Given the description of an element on the screen output the (x, y) to click on. 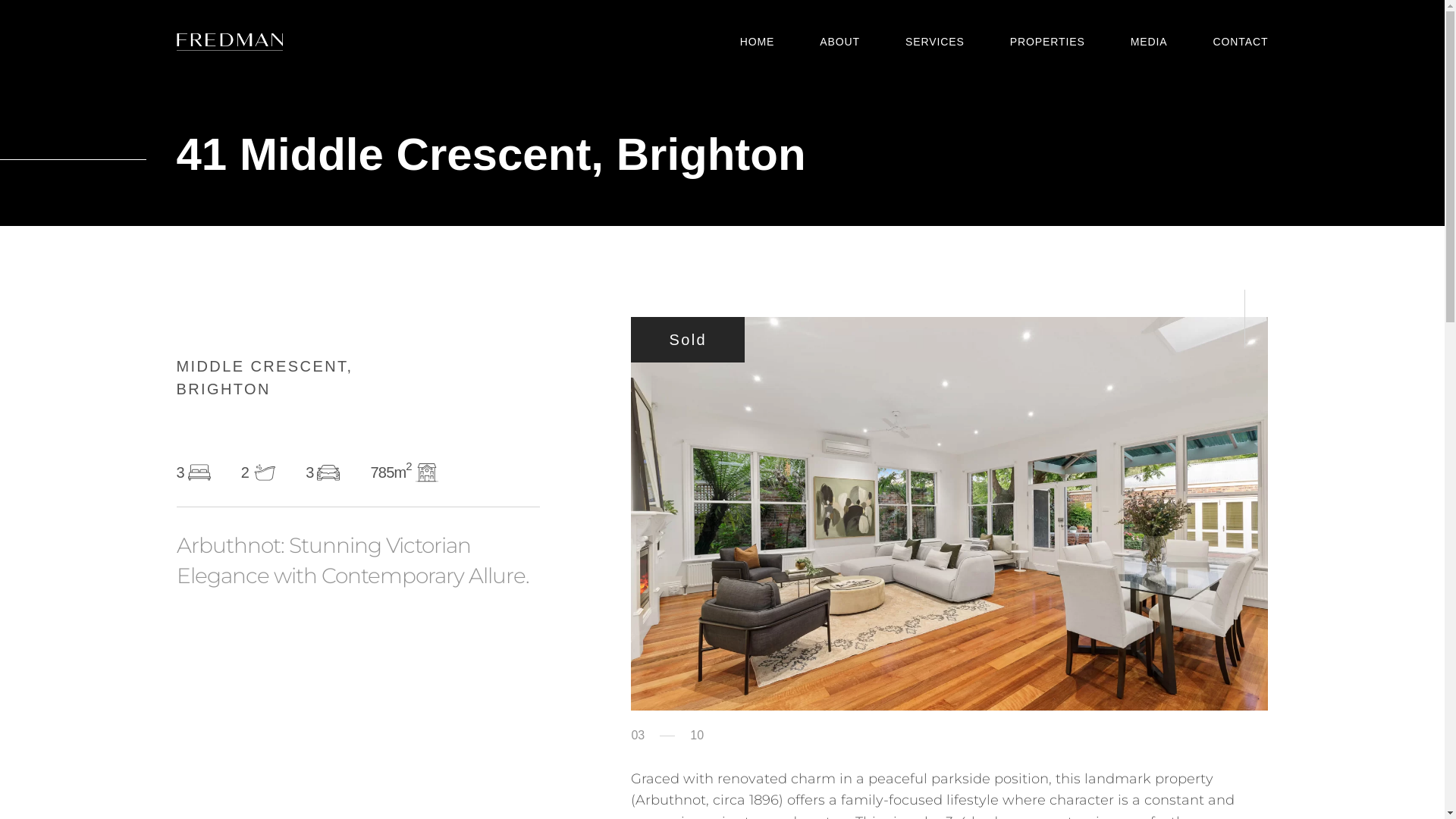
41 Middle Crescent, Brighton Element type: hover (948, 513)
ABOUT Element type: text (839, 41)
Untitled design-5 Element type: hover (722, 112)
Fredman White Logo Element type: hover (228, 41)
SERVICES Element type: text (934, 41)
MEDIA Element type: text (1148, 41)
HOME Element type: text (757, 41)
CONTACT Element type: text (1240, 41)
PROPERTIES Element type: text (1047, 41)
